Given the description of an element on the screen output the (x, y) to click on. 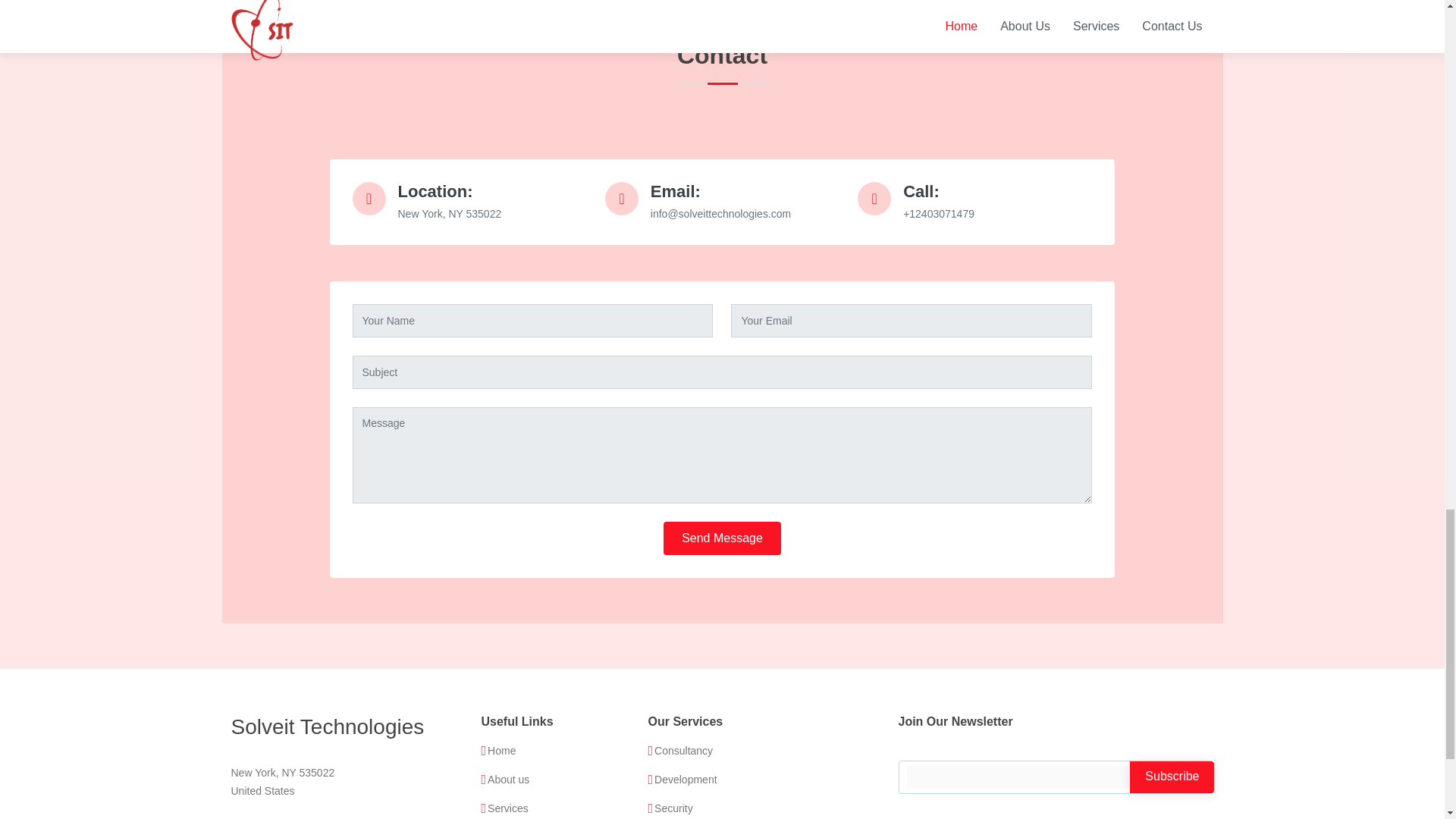
Home (501, 750)
Services (507, 808)
Subscribe (1171, 777)
Development (685, 778)
Consultancy (683, 750)
About us (508, 778)
Subscribe (1171, 777)
Security (673, 808)
Send Message (721, 538)
